Given the description of an element on the screen output the (x, y) to click on. 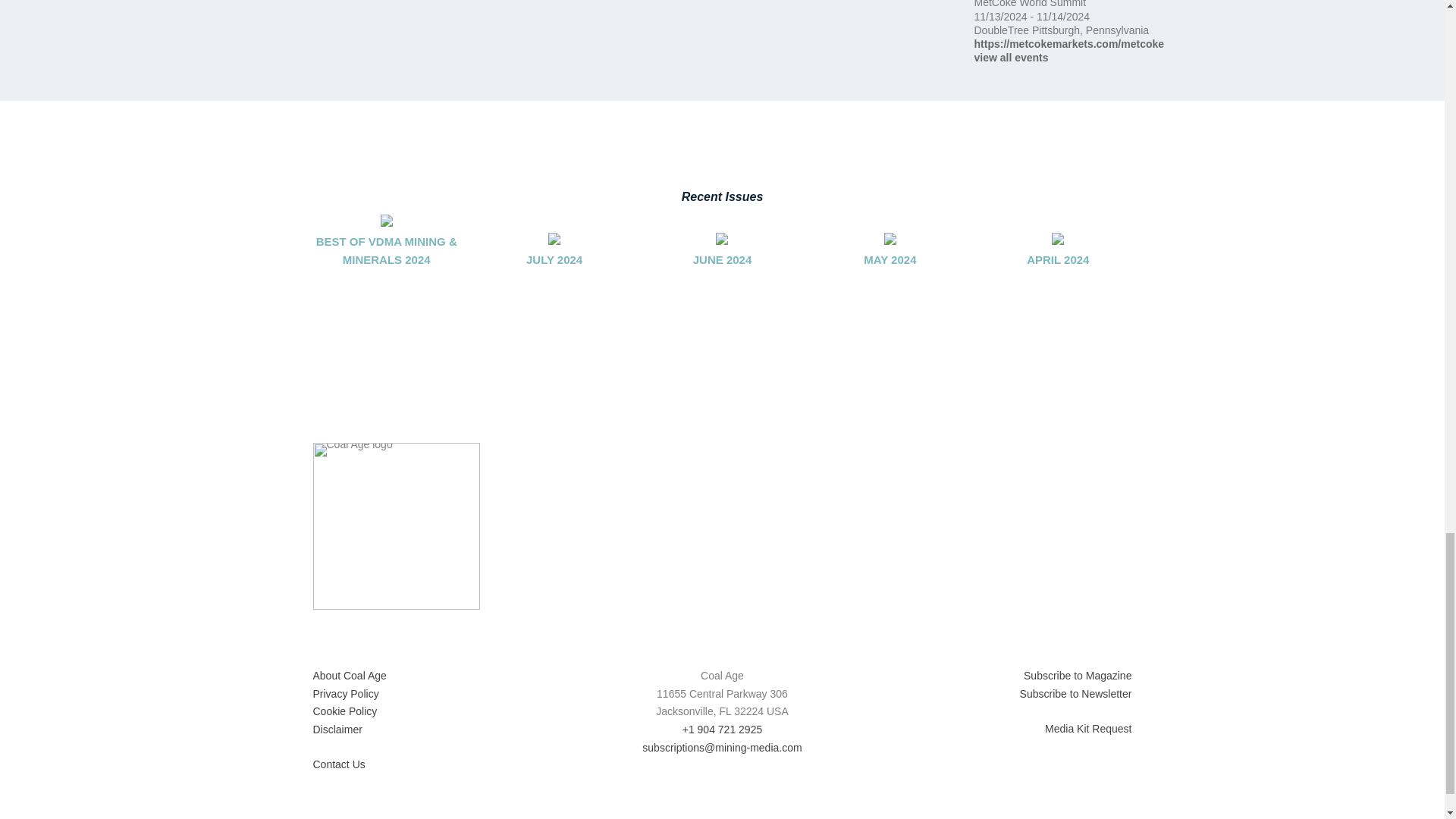
Coal Age logo (396, 526)
